Given the description of an element on the screen output the (x, y) to click on. 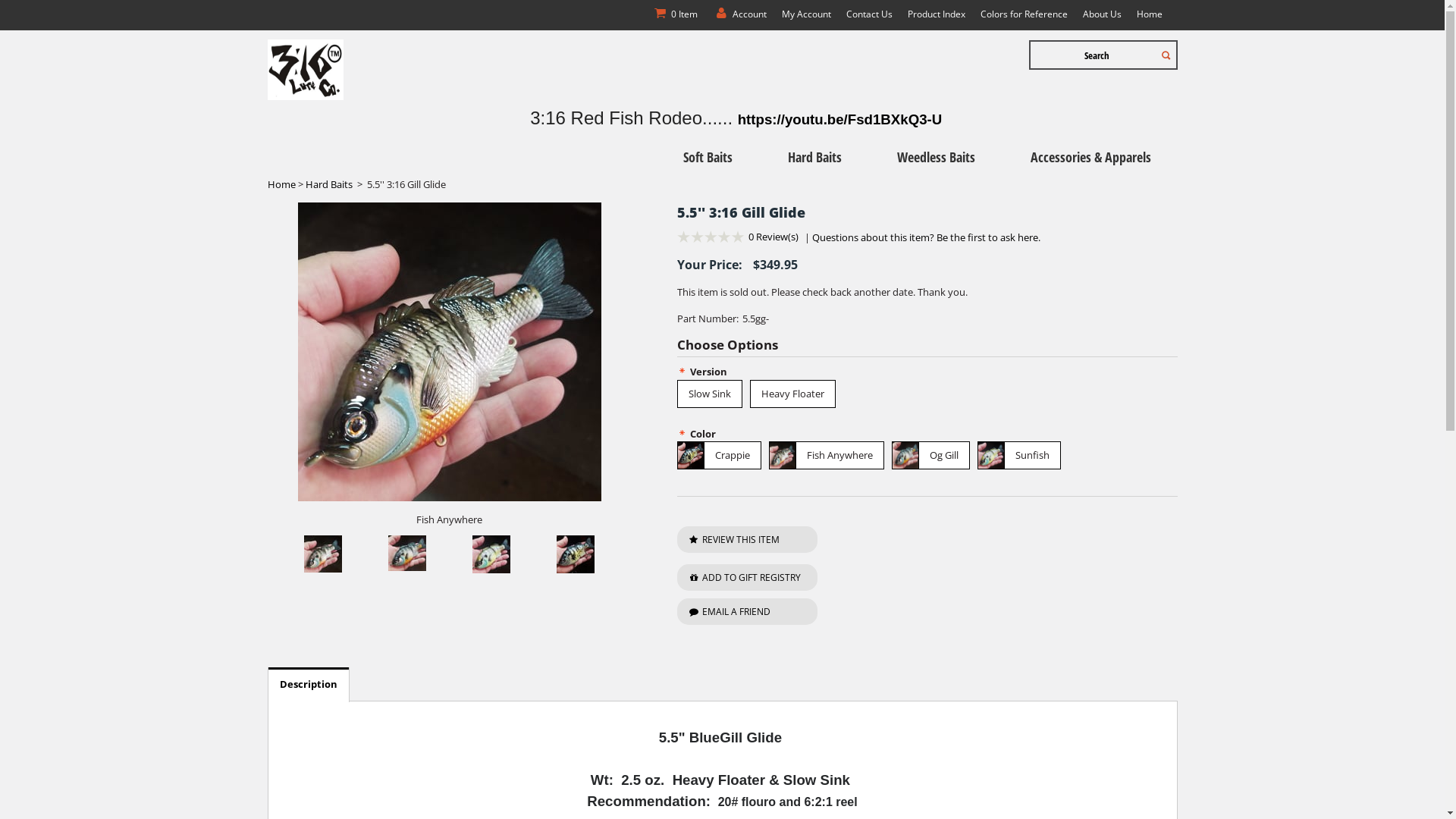
Contact Us Element type: text (869, 13)
Slow Sink Element type: text (708, 393)
Hard Baits Element type: text (327, 184)
EMAIL A FRIEND Element type: text (746, 611)
0 Review(s) Element type: text (772, 236)
https://youtu.be/Fsd1BXkQ3-U Element type: text (839, 118)
My Account Element type: text (805, 13)
Questions about this item? Be the first to ask here. Element type: text (925, 237)
Product Index Element type: text (935, 13)
ADD TO GIFT REGISTRY Element type: text (746, 577)
Accessories & Apparels Element type: text (1090, 156)
Description Element type: text (308, 683)
Colors for Reference Element type: text (1022, 13)
Soft Baits Element type: text (707, 156)
REVIEW THIS ITEM Element type: text (746, 539)
0 Item Element type: text (674, 13)
Fish Anywhere Element type: text (826, 455)
Og Gill Element type: text (930, 455)
Account Element type: text (738, 13)
Custom Rods Element type: text (1113, 185)
Weedless Baits Element type: text (935, 156)
Sunfish Element type: text (1018, 455)
Home Element type: text (1148, 13)
Heavy Floater Element type: text (791, 393)
Hard Baits Element type: text (814, 156)
About Us Element type: text (1101, 13)
Crappie Element type: text (718, 455)
Home Element type: text (280, 184)
